Given the description of an element on the screen output the (x, y) to click on. 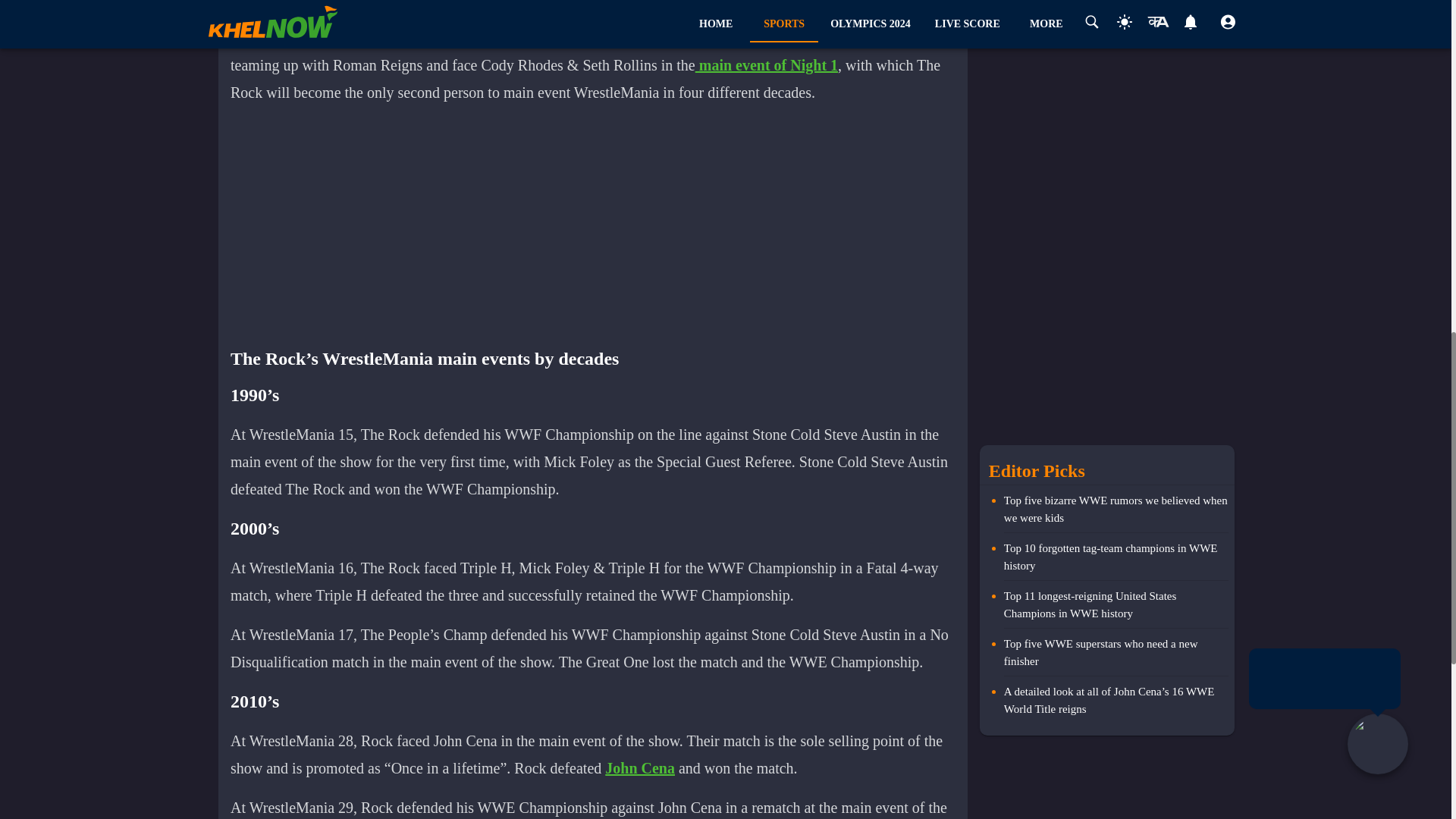
myFrame (600, 223)
main event of Night 1 (766, 64)
WWE (250, 2)
John Cena (640, 768)
WrestleMania 40 (734, 36)
Top 10 forgotten tag-team champions in WWE history (1116, 559)
Top five bizarre WWE rumors we believed when we were kids (1116, 512)
